Given the description of an element on the screen output the (x, y) to click on. 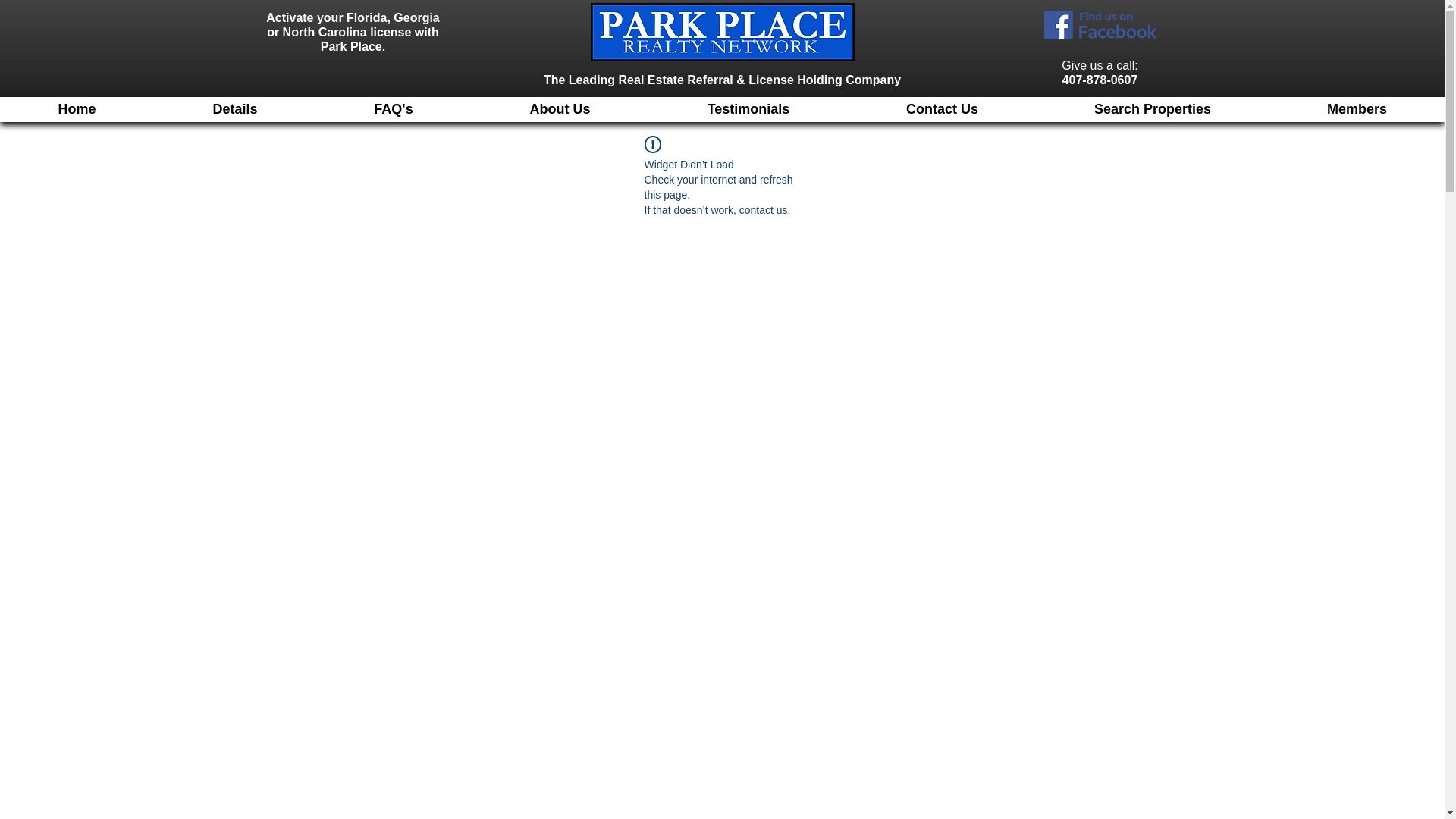
FAQ's (392, 109)
Testimonials (747, 109)
! (653, 144)
Contact Us (941, 109)
Home (77, 109)
Search Properties (1151, 109)
About Us (558, 109)
Details (234, 109)
